Given the description of an element on the screen output the (x, y) to click on. 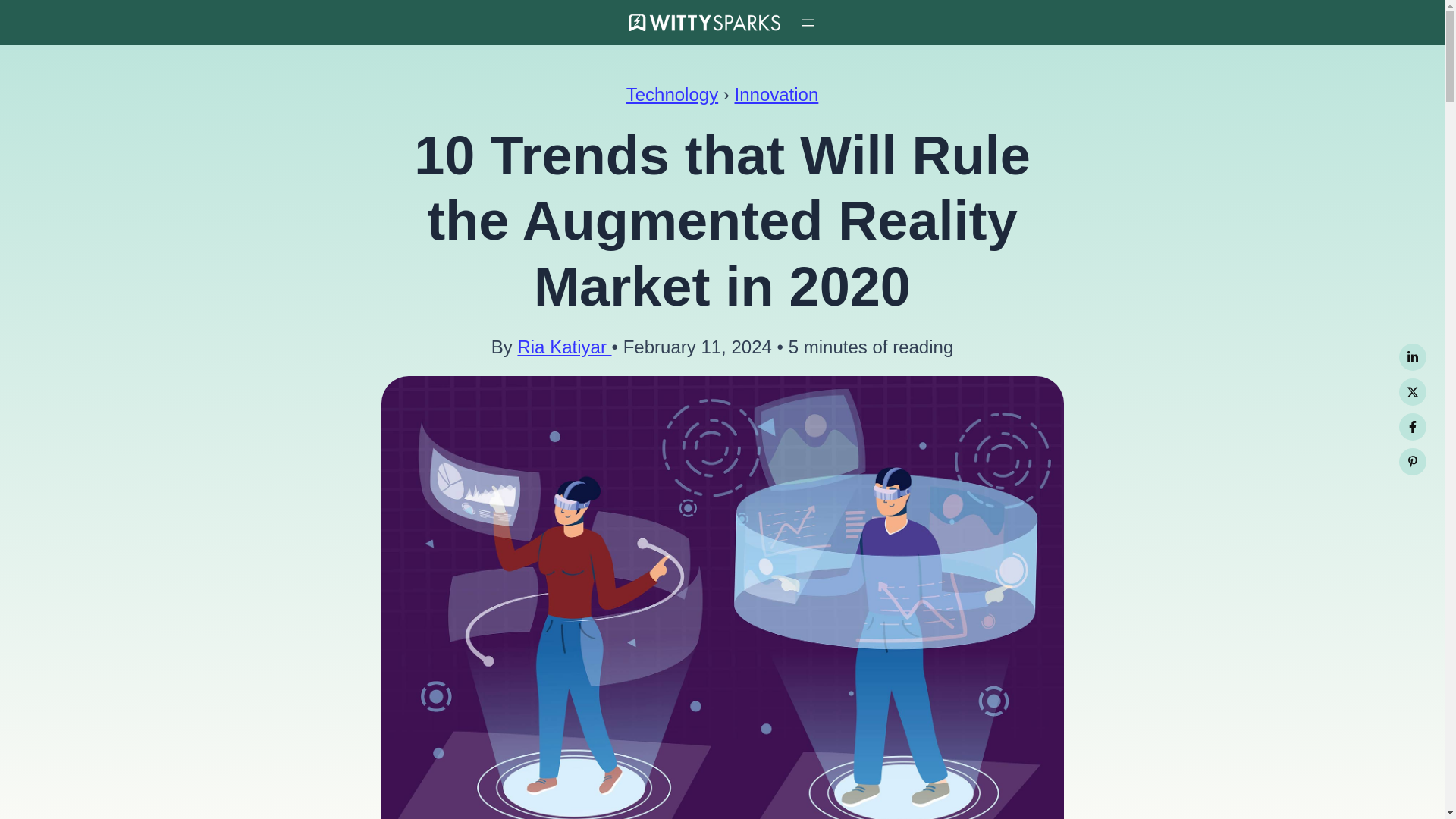
Technology (672, 94)
Ria Katiyar (563, 346)
Innovation (775, 94)
View all posts by Ria Katiyar (563, 346)
